Given the description of an element on the screen output the (x, y) to click on. 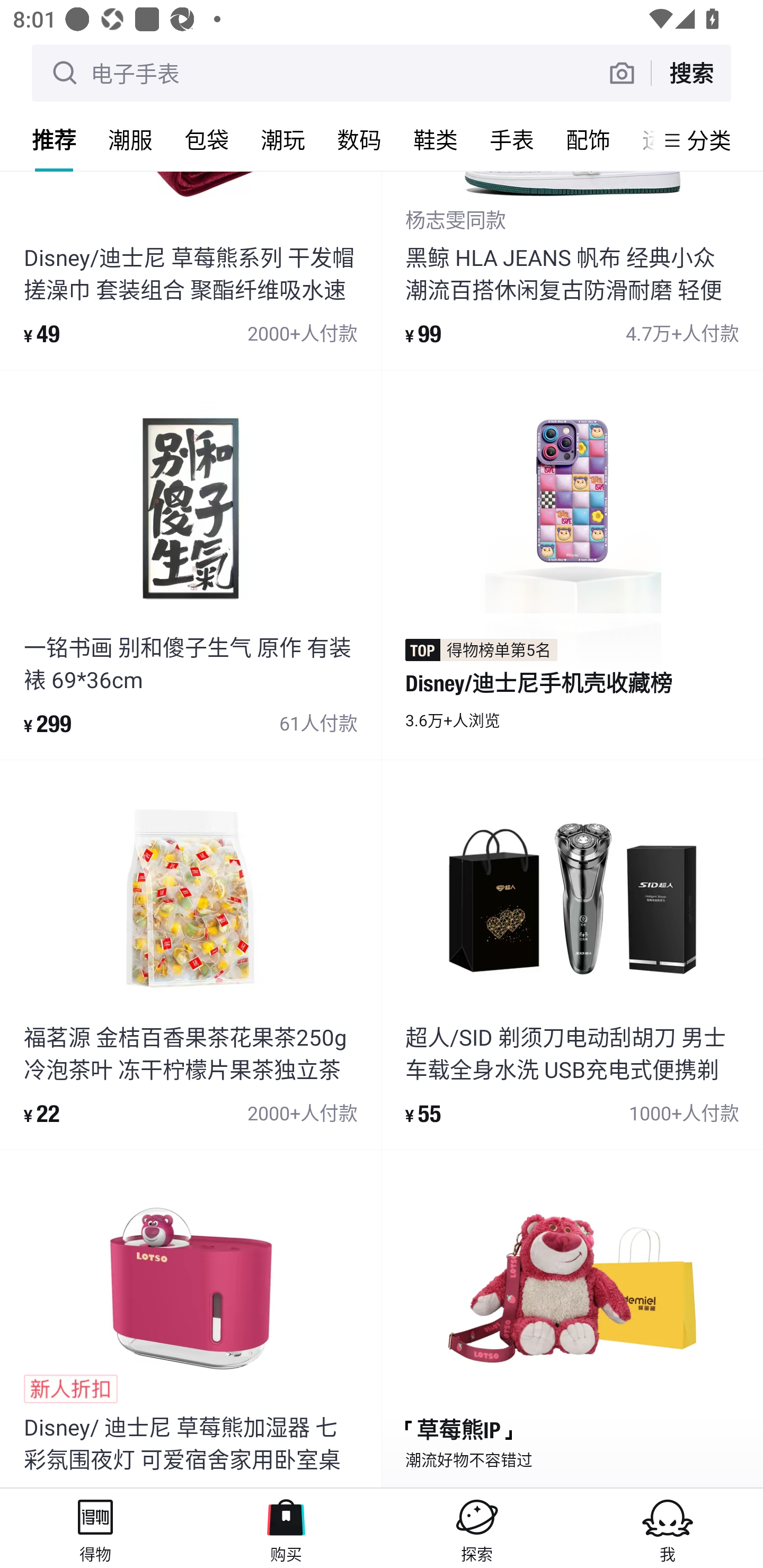
搜索 (690, 72)
推荐 (54, 139)
潮服 (130, 139)
包袋 (206, 139)
潮玩 (282, 139)
数码 (359, 139)
鞋类 (435, 139)
手表 (511, 139)
配饰 (588, 139)
分类 (708, 139)
得物榜单第5名 Disney/迪士尼手机壳收藏榜 3.6万+人浏览 (572, 564)
草莓熊IP 潮流好物不容错过 (572, 1318)
得物 (95, 1528)
购买 (285, 1528)
探索 (476, 1528)
我 (667, 1528)
